Given the description of an element on the screen output the (x, y) to click on. 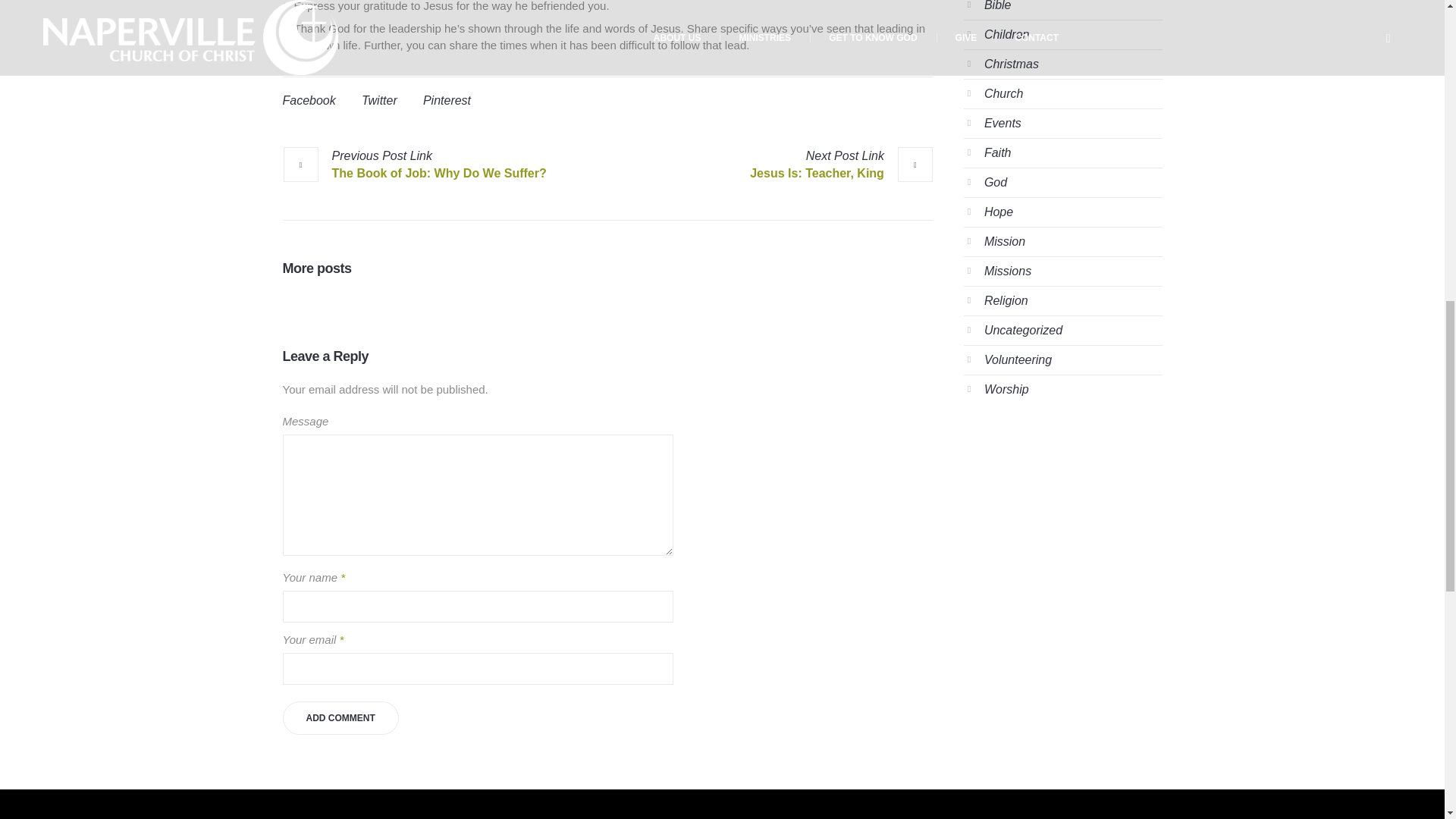
Facebook (308, 100)
Add Comment (339, 717)
The Book of Job: Why Do We Suffer? (414, 164)
Add Comment (339, 717)
Jesus Is: Teacher, King (841, 164)
Twitter (379, 100)
Pinterest (446, 100)
